Given the description of an element on the screen output the (x, y) to click on. 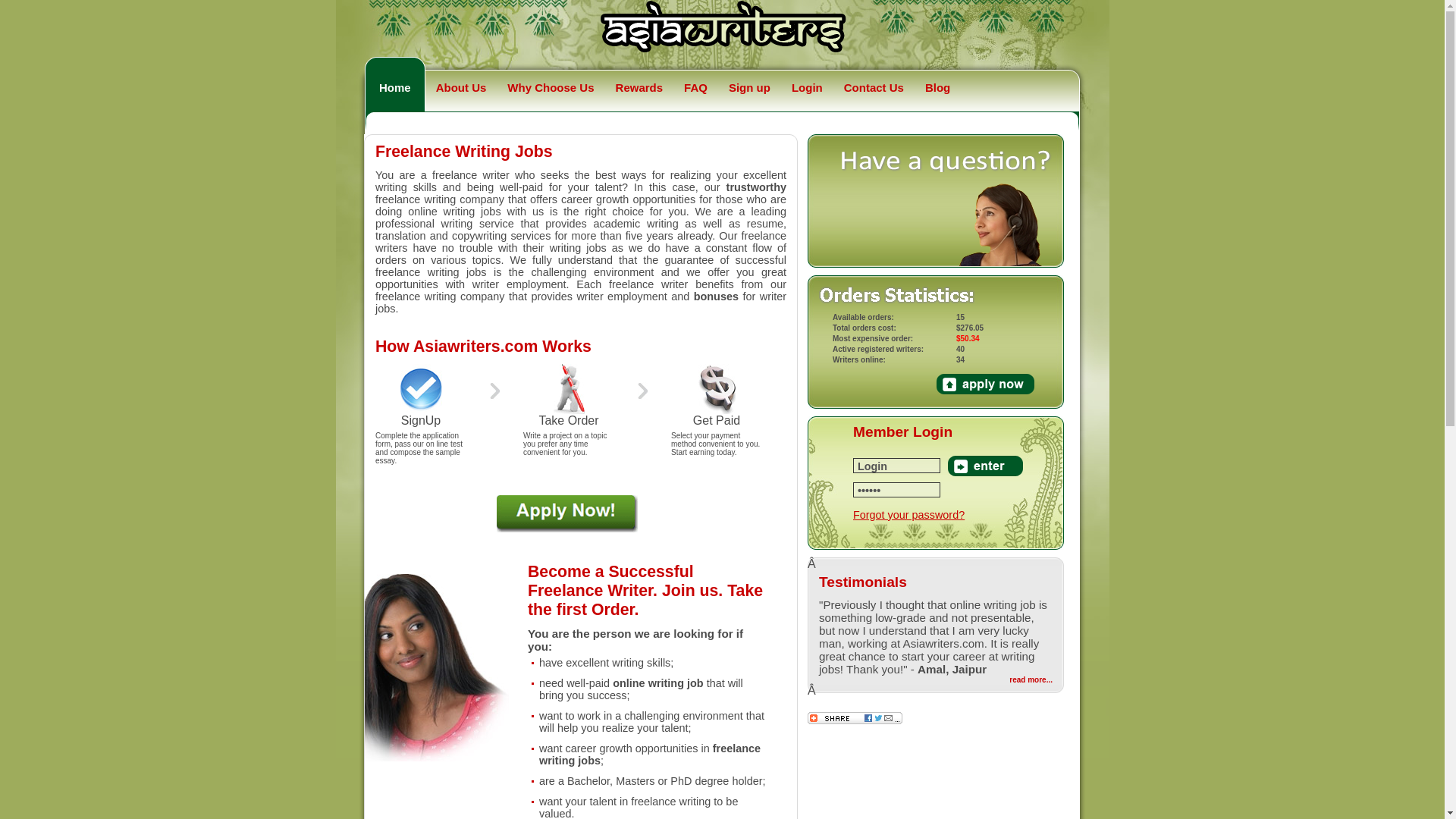
Login (896, 465)
Forgot your password? (908, 514)
enter (985, 465)
read more... (1030, 679)
Testimonials (862, 581)
enter (985, 465)
Why Choose Us (550, 91)
